Given the description of an element on the screen output the (x, y) to click on. 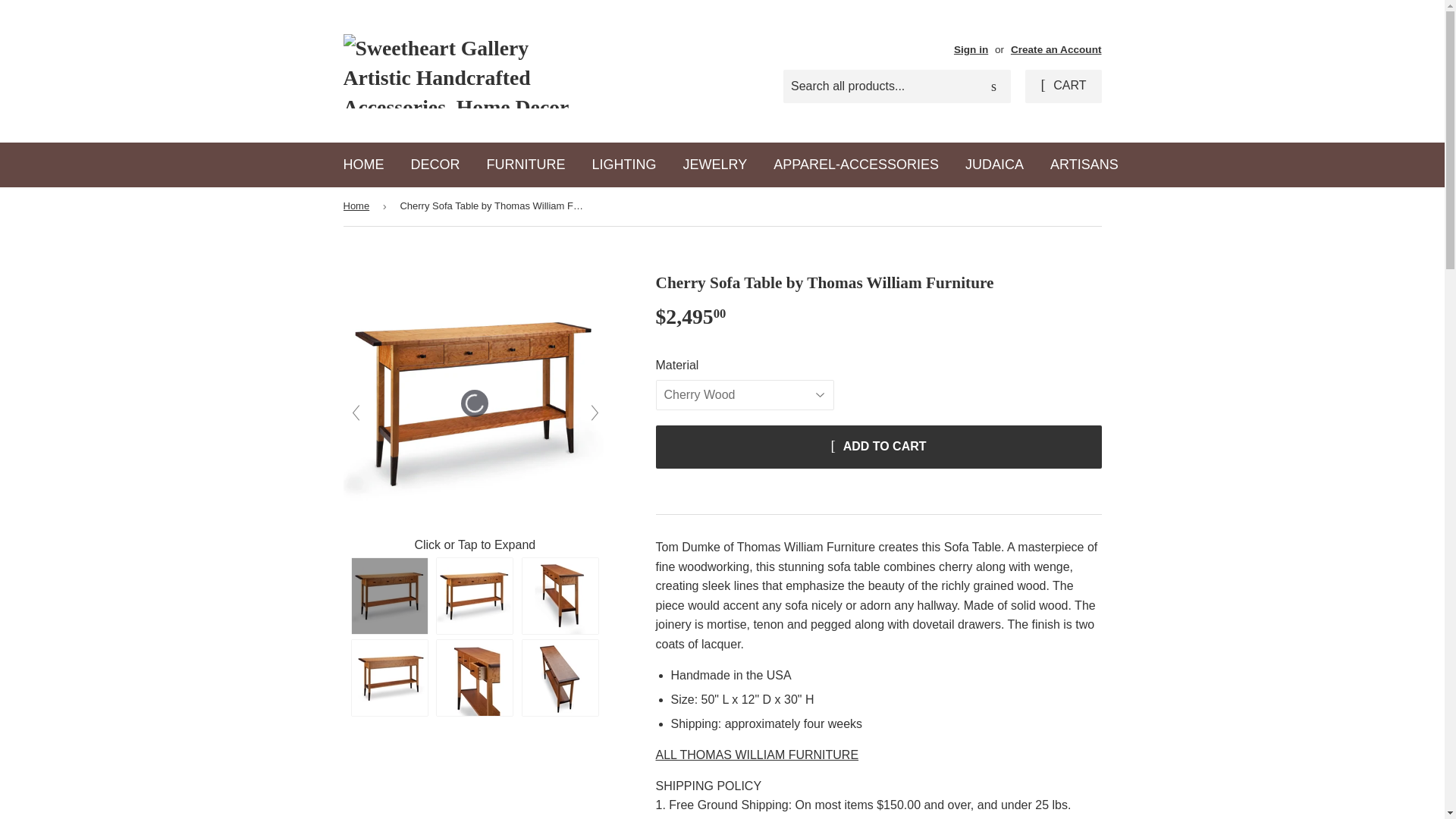
ALL THOMAS WILLIAM FURNITURE (757, 754)
Shipping Policy (684, 818)
ARTISANS (1084, 164)
JEWELRY (714, 164)
APPAREL-ACCESSORIES (855, 164)
Read more (684, 818)
view previous image (354, 413)
Thomas William Furniture Cherry Sofa Table-6 (474, 677)
ADD TO CART (877, 446)
